Given the description of an element on the screen output the (x, y) to click on. 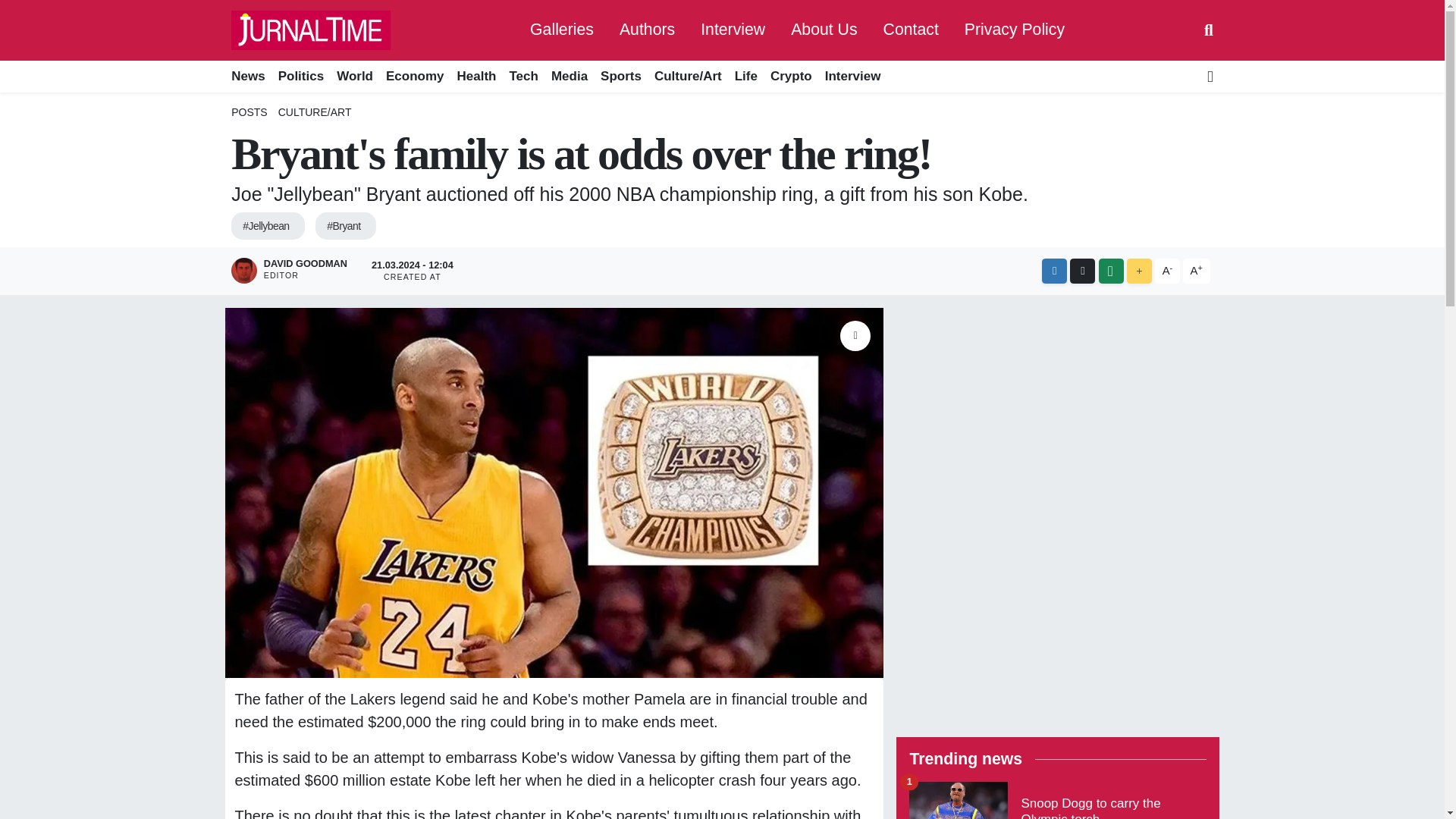
News (250, 76)
Health (475, 76)
Economy (413, 76)
Privacy Policy (1014, 29)
Economy (413, 76)
Authors (647, 29)
Privacy Policy (1014, 29)
Politics (300, 76)
Interview (852, 76)
Tech (523, 76)
Authors (647, 29)
Jurnal Time (310, 29)
World (355, 76)
Sports (620, 76)
Life (745, 76)
